Given the description of an element on the screen output the (x, y) to click on. 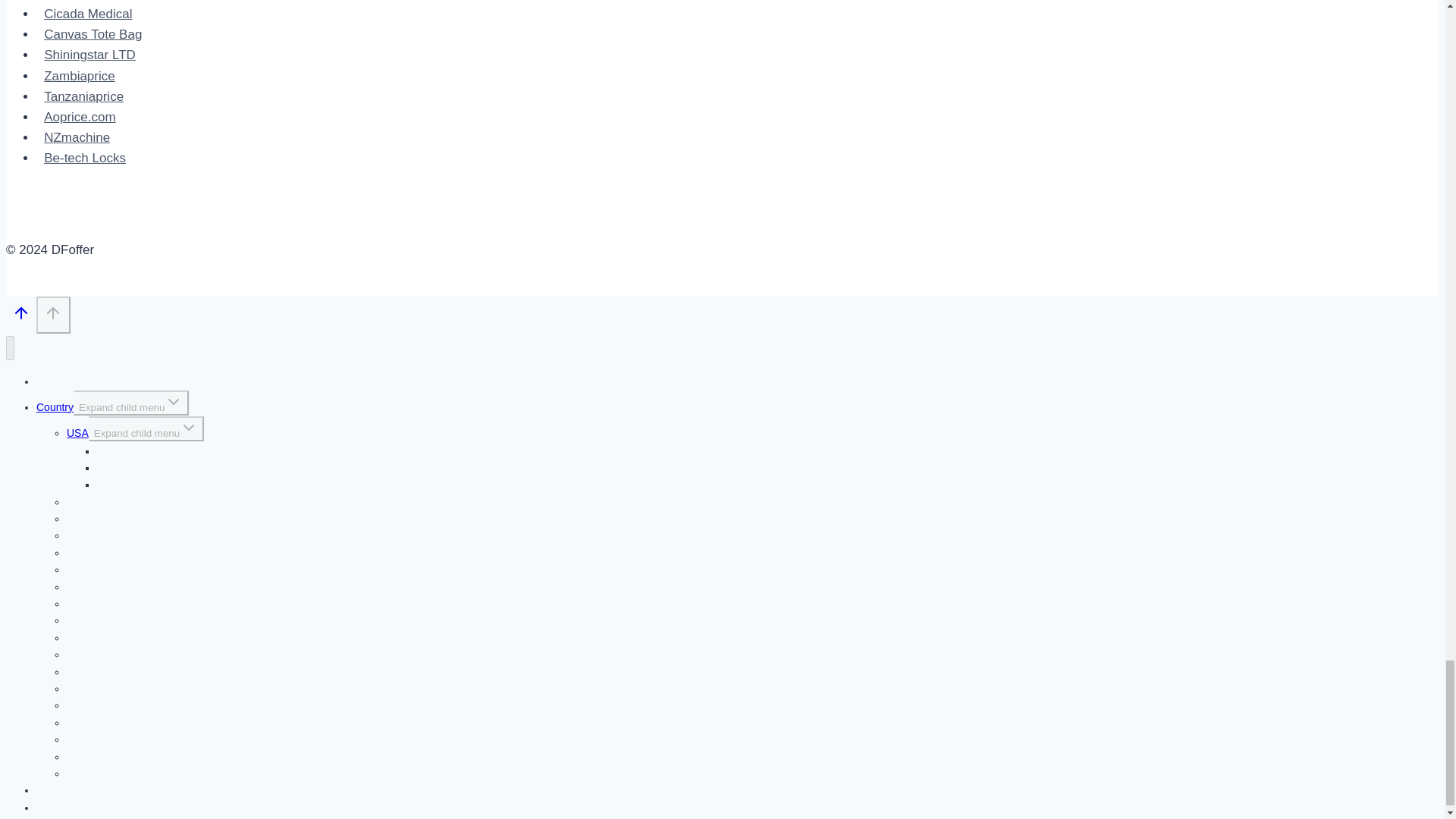
Scroll to top (52, 312)
Aoprice.com (79, 116)
Cicada Medical (87, 13)
Tanzaniaprice (83, 96)
Shiningstar LTD (89, 54)
Zambiaprice (79, 75)
Canvas Tote Bag (92, 34)
Scroll to top (20, 316)
Scroll to top (52, 314)
Expand (188, 427)
